Given the description of an element on the screen output the (x, y) to click on. 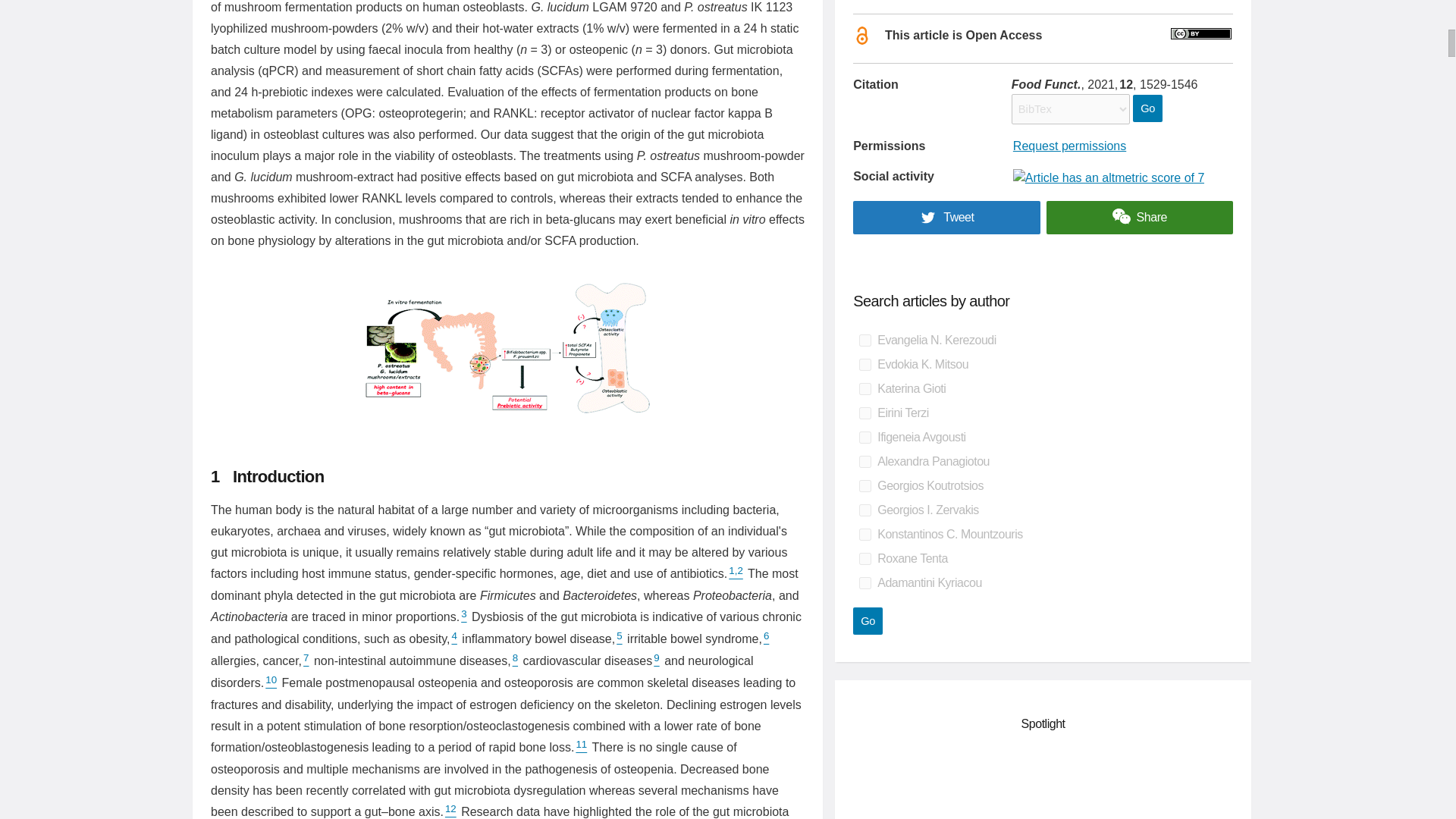
on (864, 340)
on (864, 388)
on (864, 582)
on (864, 485)
on (864, 413)
on (864, 437)
Go (1146, 108)
on (864, 510)
on (864, 461)
on (864, 558)
